Given the description of an element on the screen output the (x, y) to click on. 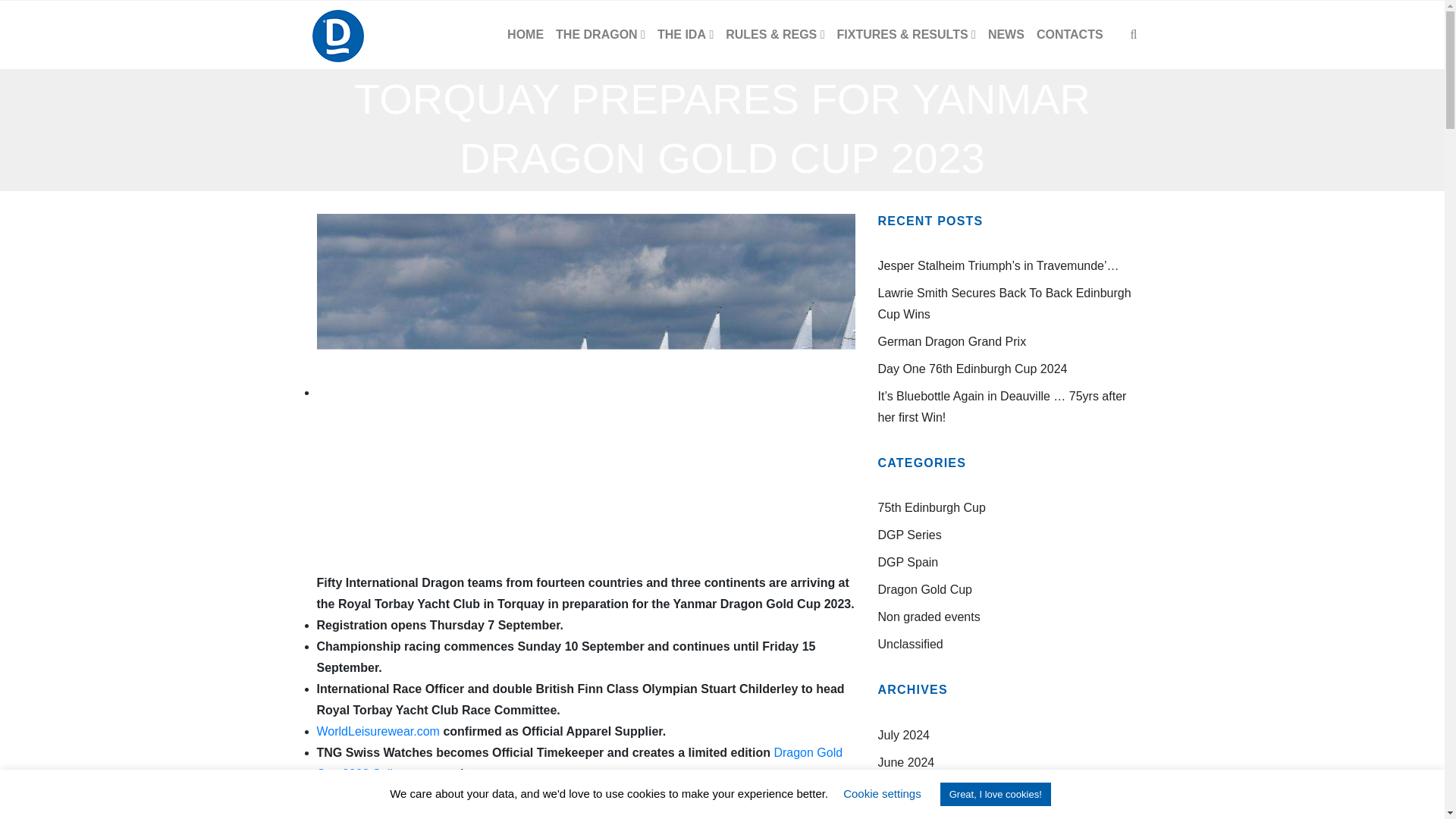
The Dragon (600, 34)
CONTACTS (1069, 34)
International Dragon Association (337, 34)
The IDA (684, 34)
THE IDA (684, 34)
THE DRAGON (600, 34)
